Given the description of an element on the screen output the (x, y) to click on. 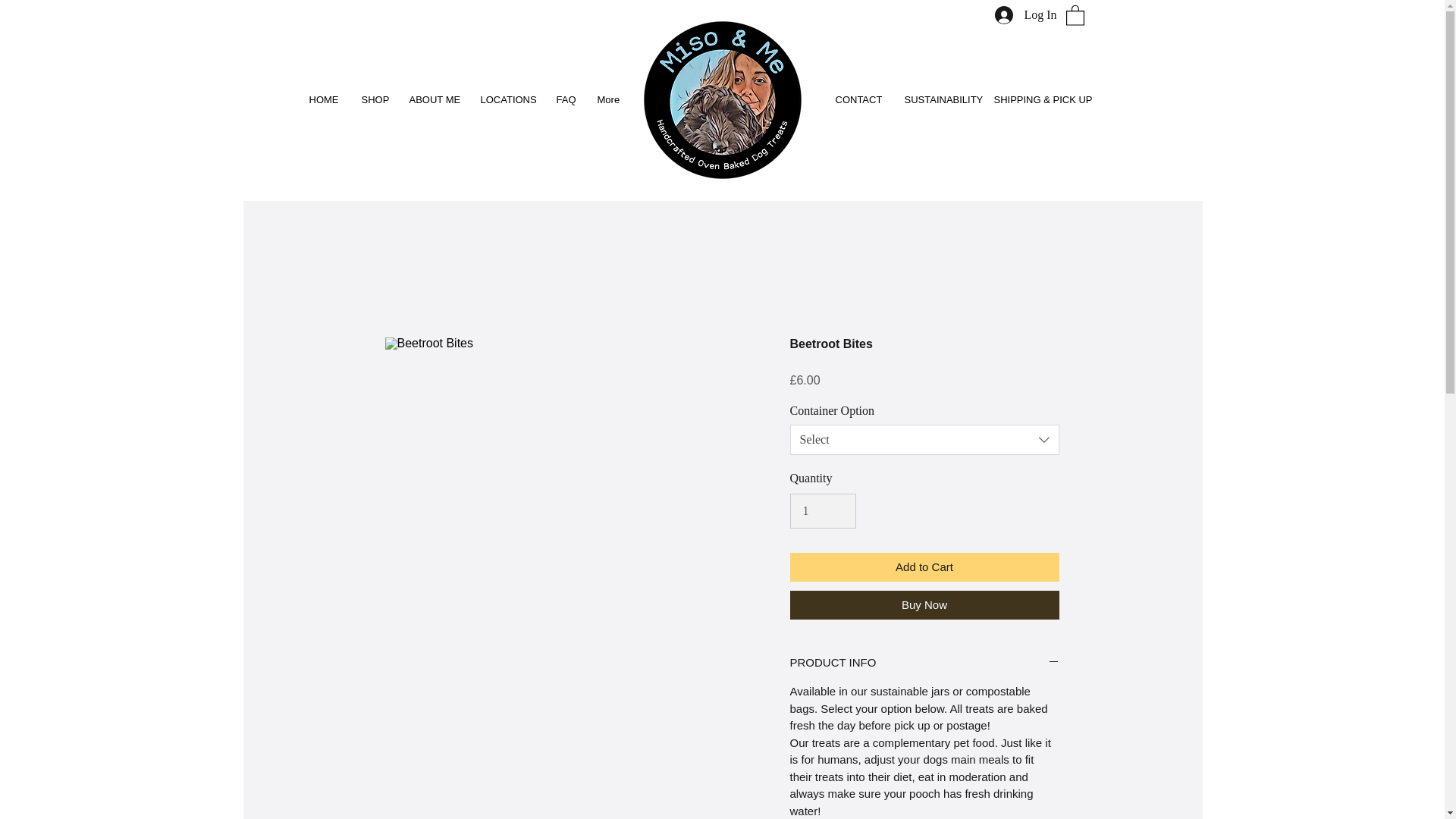
LOCATIONS (506, 99)
CONTACT (858, 99)
Buy Now (924, 604)
Select (924, 440)
PRODUCT INFO (924, 663)
ABOUT ME (432, 99)
1 (823, 510)
HOME (323, 99)
SUSTAINABILITY (937, 99)
Add to Cart (924, 567)
